Given the description of an element on the screen output the (x, y) to click on. 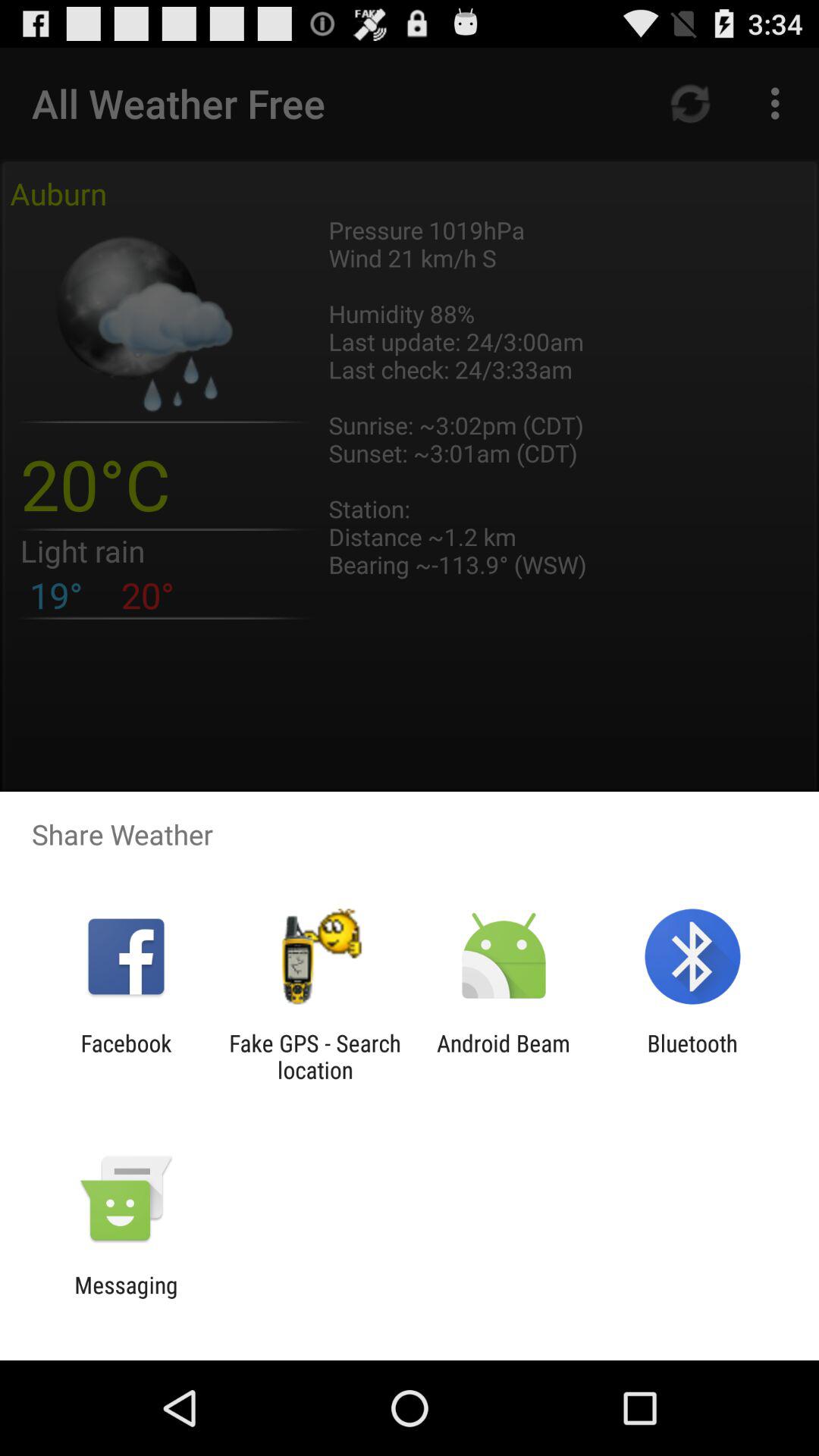
choose item to the right of the fake gps search app (503, 1056)
